Given the description of an element on the screen output the (x, y) to click on. 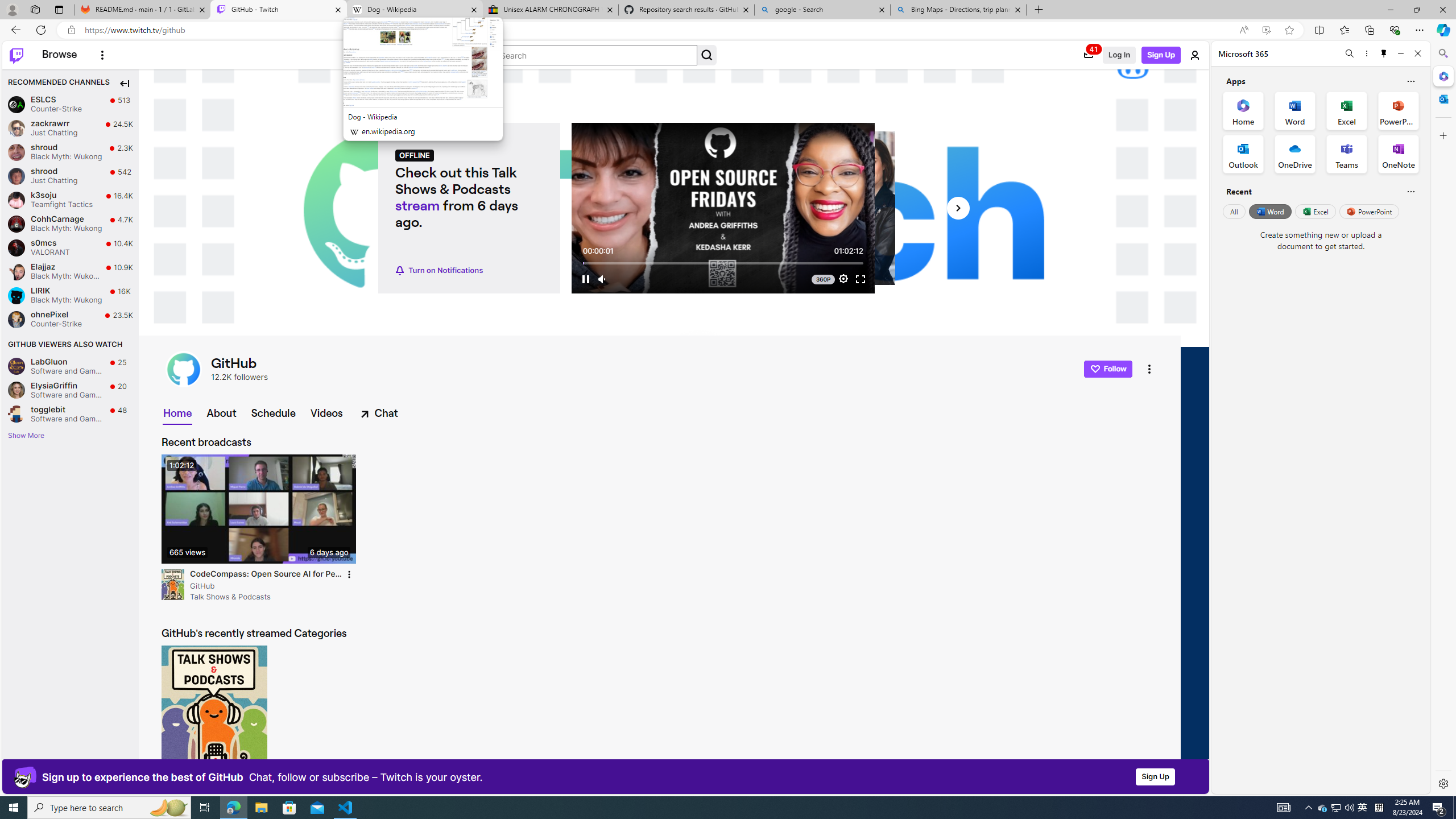
Search Button (706, 55)
GitHub (183, 368)
togglebit (15, 414)
GitHub (266, 585)
stream (416, 204)
Is this helpful? (1410, 191)
Turn on Notifications (439, 270)
PowerPoint Office App (1398, 110)
OneNote Office App (1398, 154)
